Given the description of an element on the screen output the (x, y) to click on. 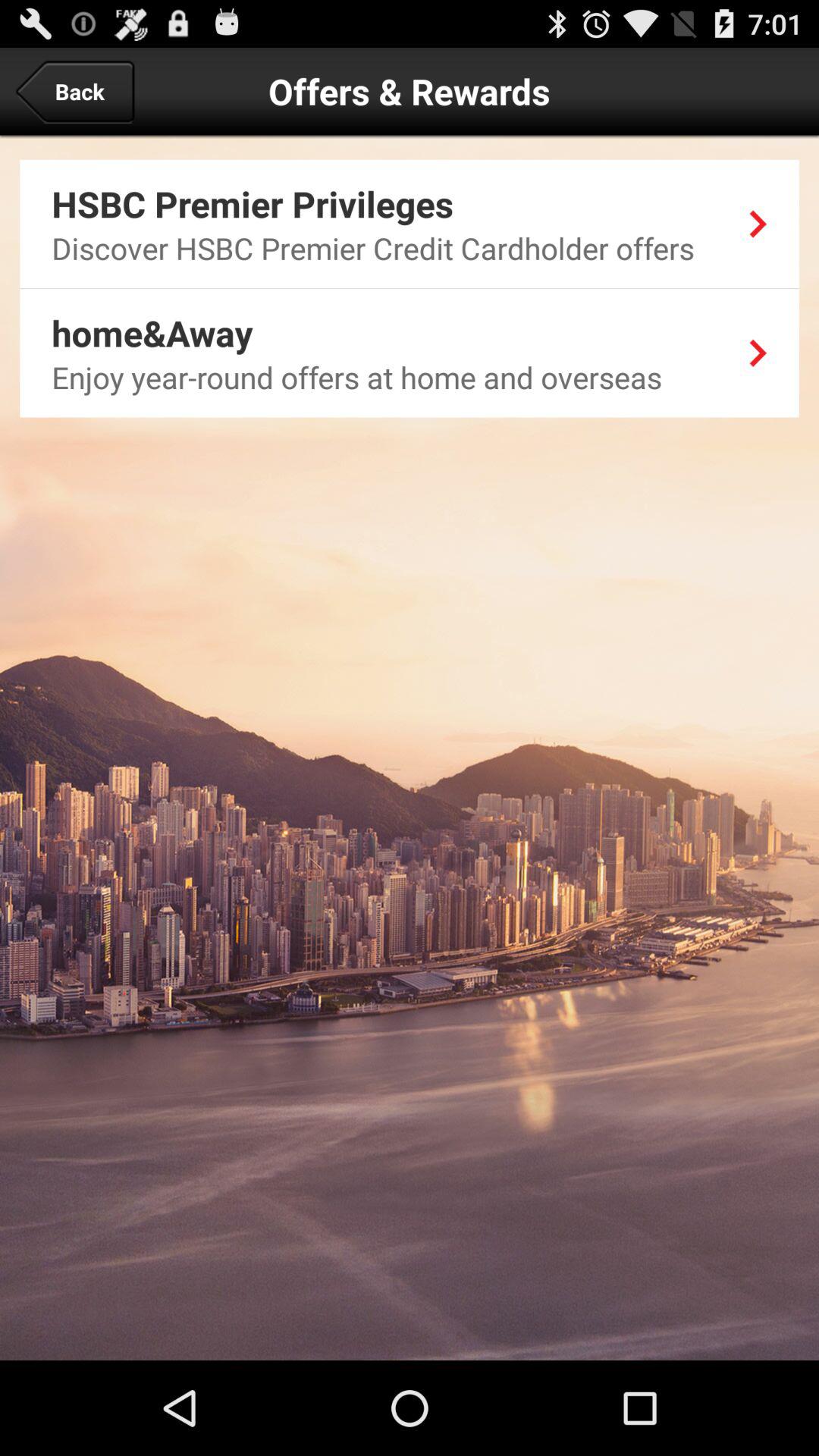
select back (73, 91)
